Given the description of an element on the screen output the (x, y) to click on. 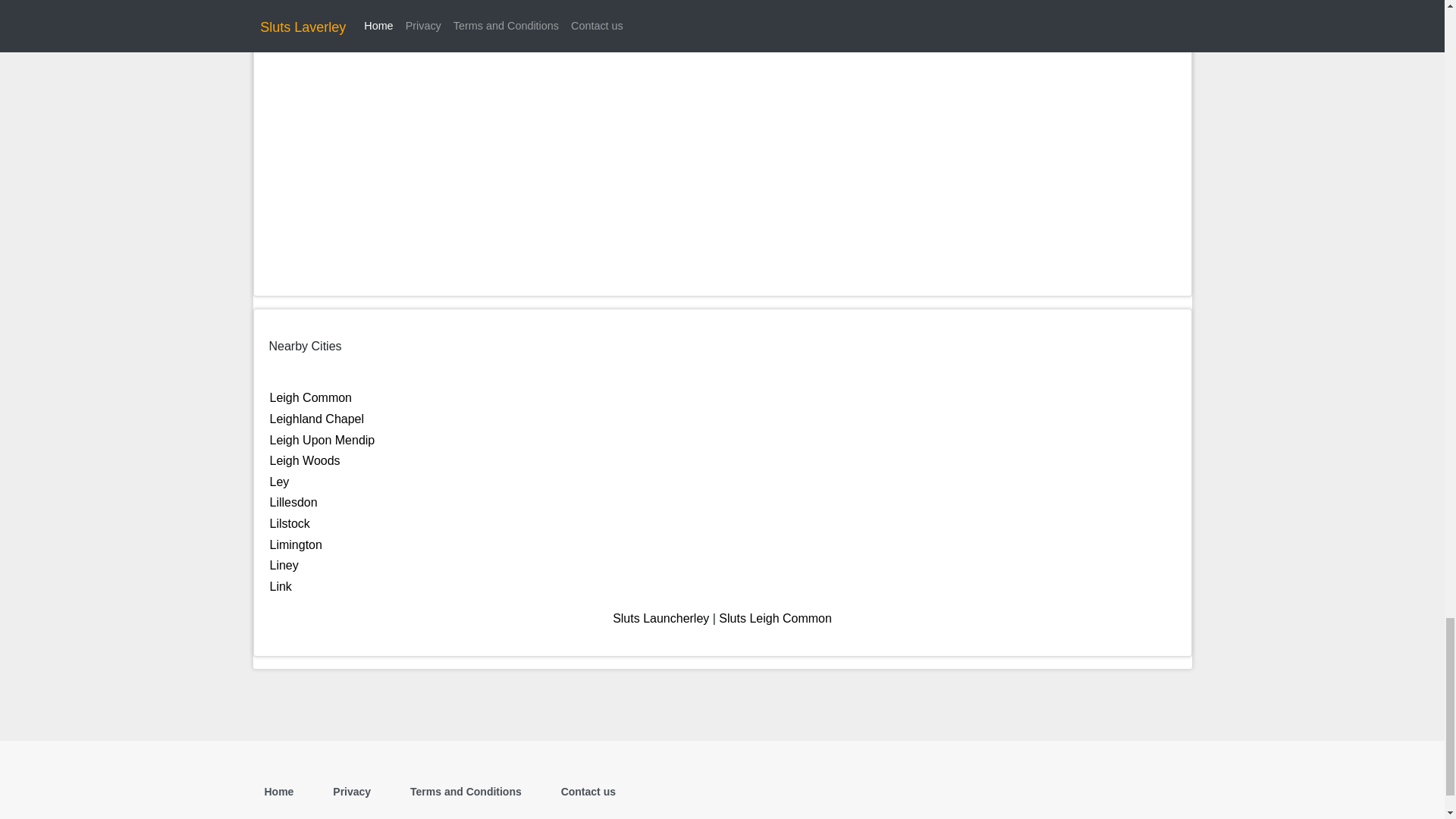
Leighland Chapel (317, 418)
Liney (283, 564)
Leigh Common (310, 397)
Lillesdon (293, 502)
Link (280, 585)
Leigh Upon Mendip (322, 440)
Sluts Launcherley (660, 617)
Sluts Leigh Common (775, 617)
Leigh Woods (304, 460)
Limington (295, 544)
Ley (279, 481)
Lilstock (289, 522)
